Given the description of an element on the screen output the (x, y) to click on. 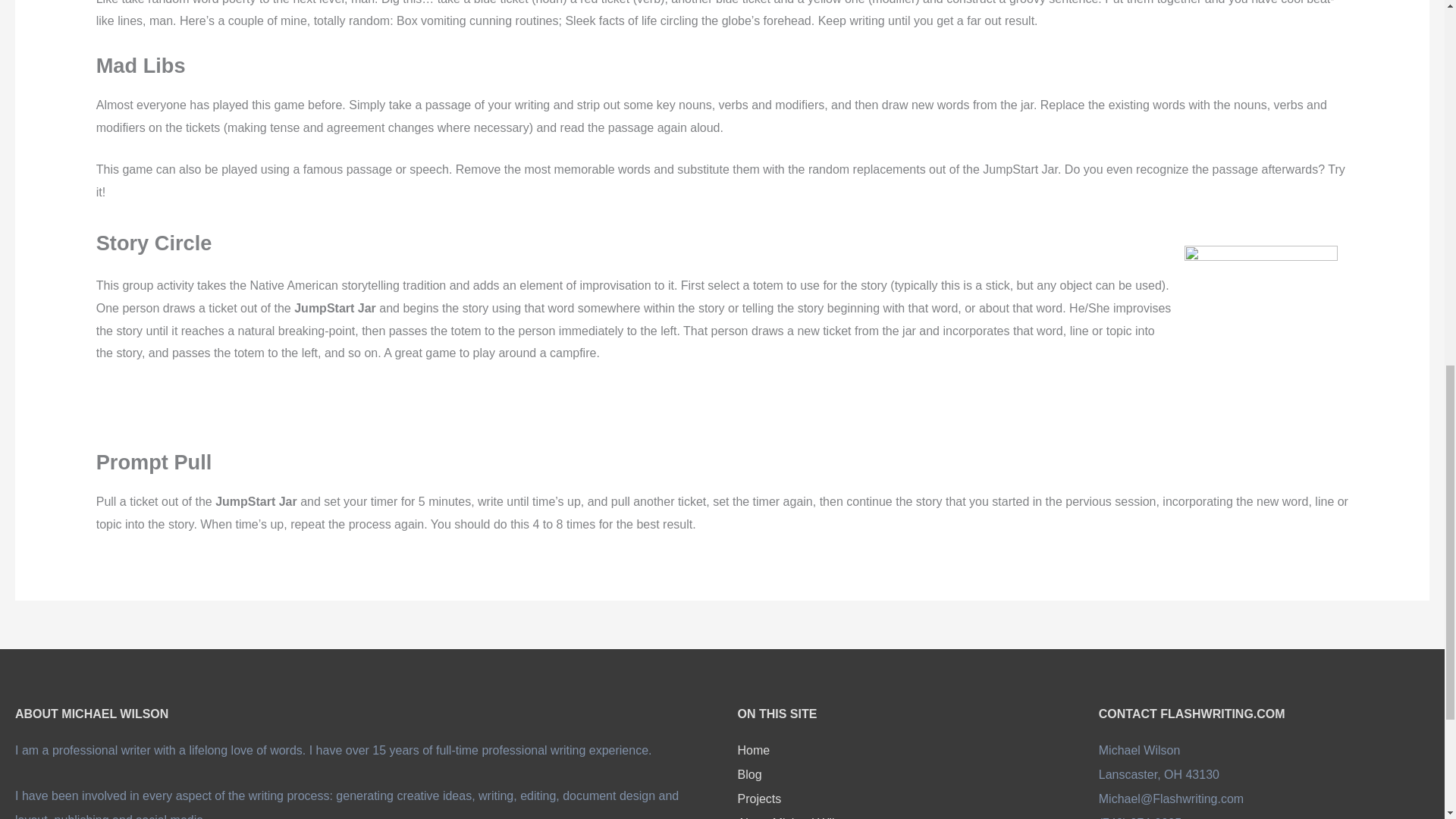
Projects (758, 798)
Home (753, 749)
Blog (748, 774)
About Michael Wilson (794, 817)
